Given the description of an element on the screen output the (x, y) to click on. 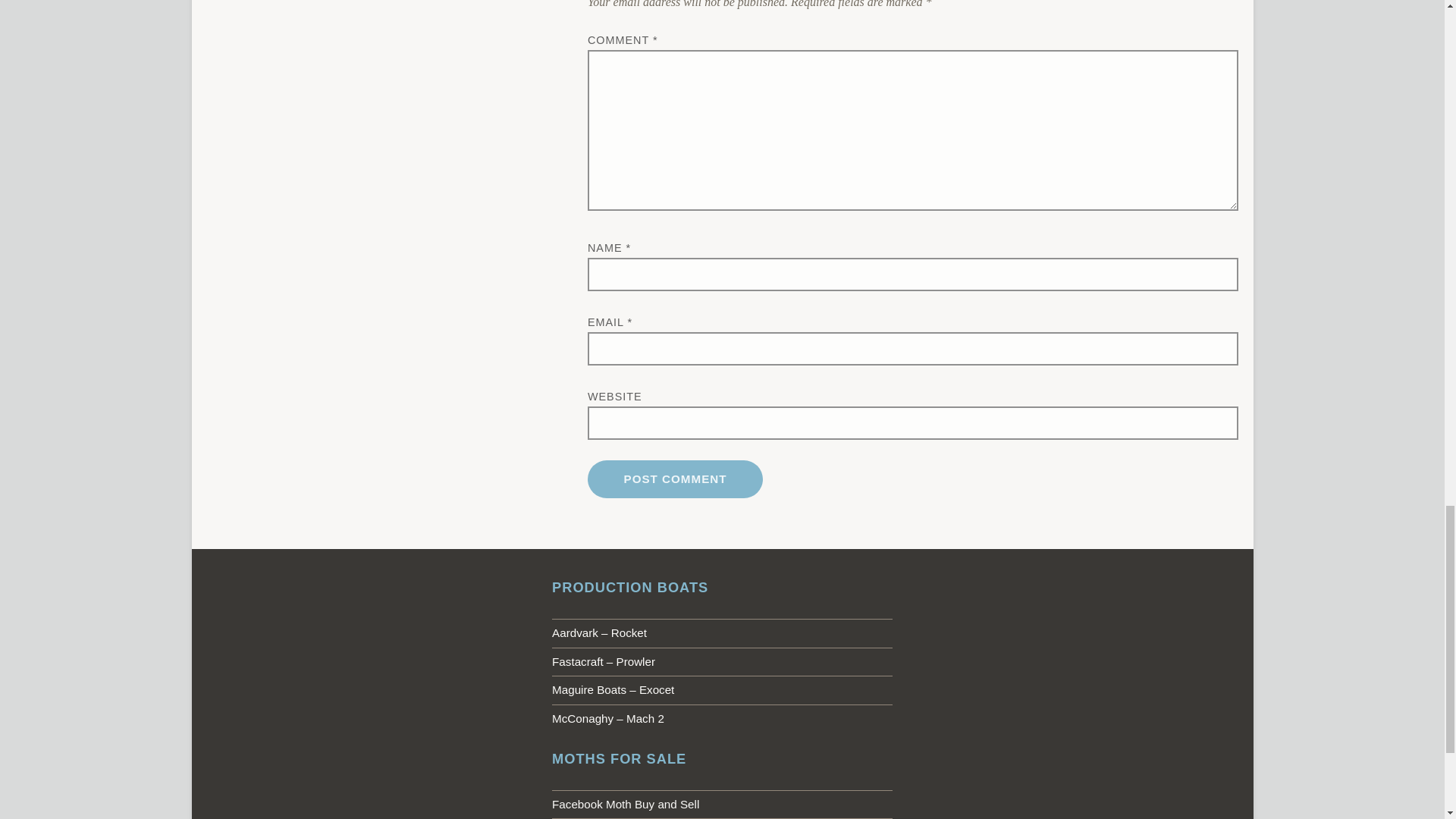
Facebook Moth Buy and Sell (721, 804)
Post Comment (675, 478)
Used Moth boats and equipment for sale (721, 804)
UK Boat Builder of the Rocket (721, 633)
Post Comment (675, 478)
Maguire Boats (721, 689)
Prowler Moth from John Illet (721, 661)
Mach 2 moth website (721, 718)
